Given the description of an element on the screen output the (x, y) to click on. 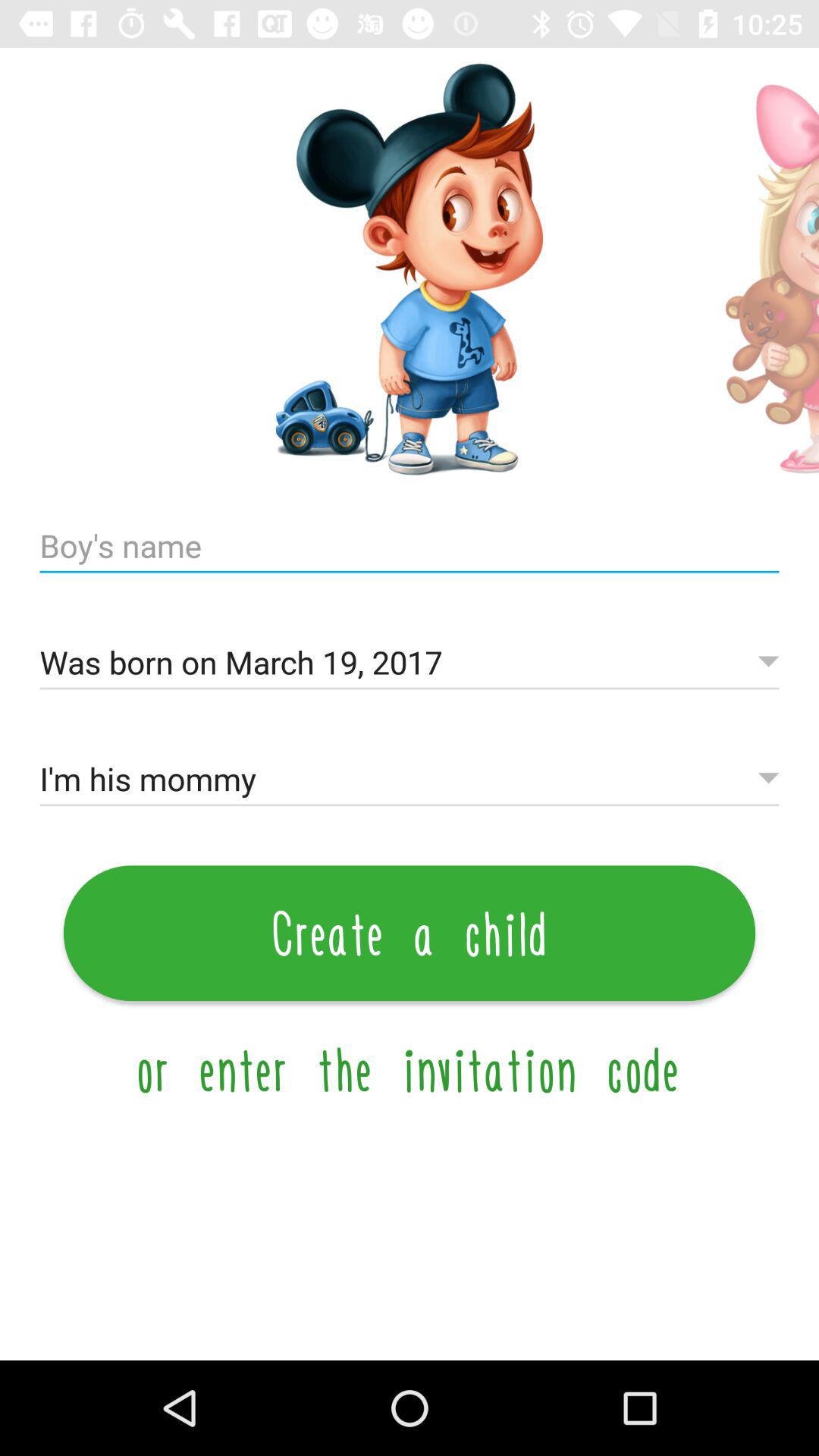
go to next option (757, 269)
